Given the description of an element on the screen output the (x, y) to click on. 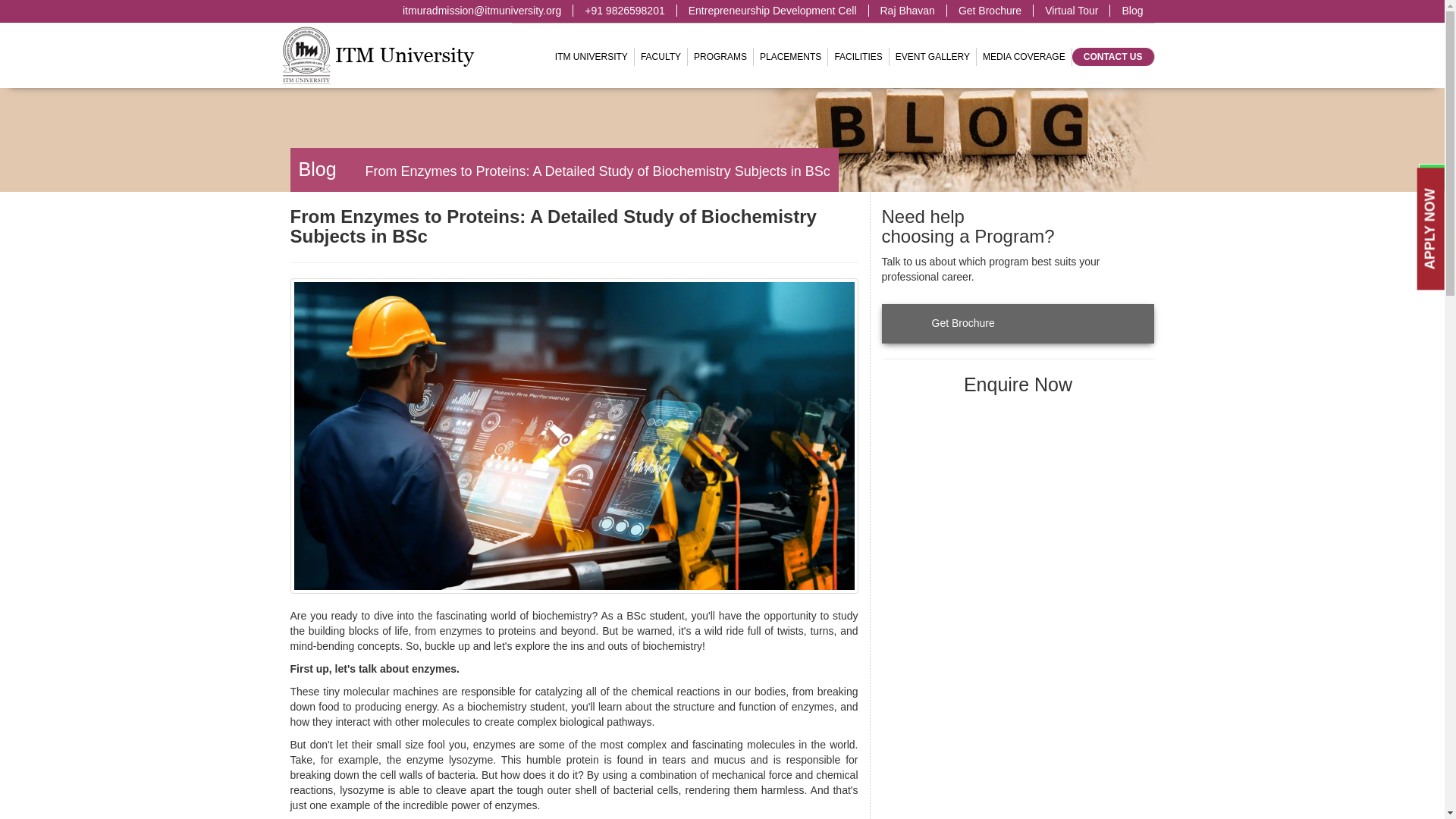
ITM UNIVERSITY (591, 56)
Entrepreneurship Development Cell (778, 10)
Virtual Tour (1115, 10)
Raj Bhavan (957, 10)
Blog (1125, 10)
Raj Bhavan (912, 10)
Virtual Tour (1071, 10)
Get Brochure (1040, 10)
Entrepreneurship Development Cell (823, 10)
Get Brochure (995, 10)
